Given the description of an element on the screen output the (x, y) to click on. 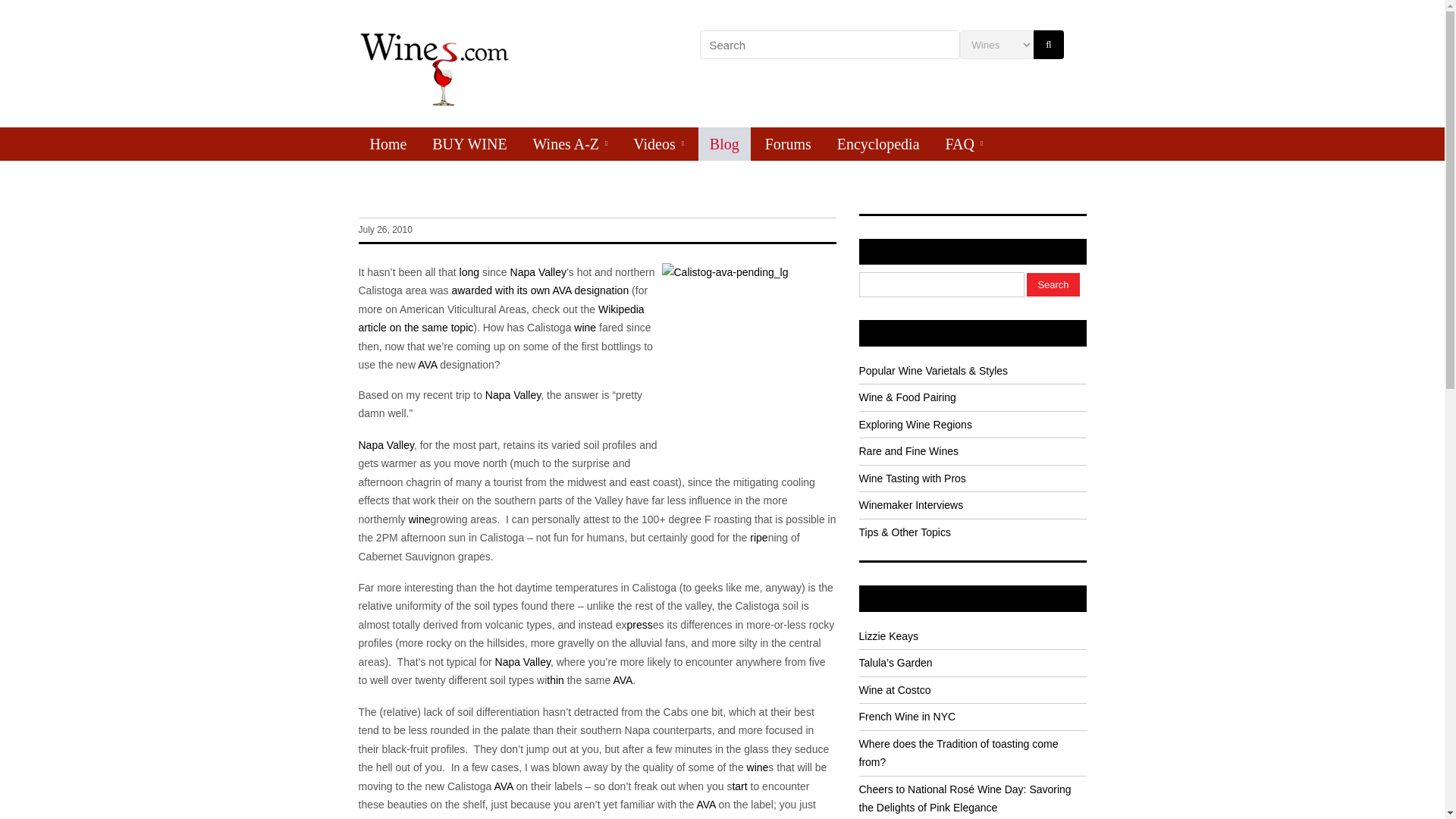
Search (1052, 284)
